Given the description of an element on the screen output the (x, y) to click on. 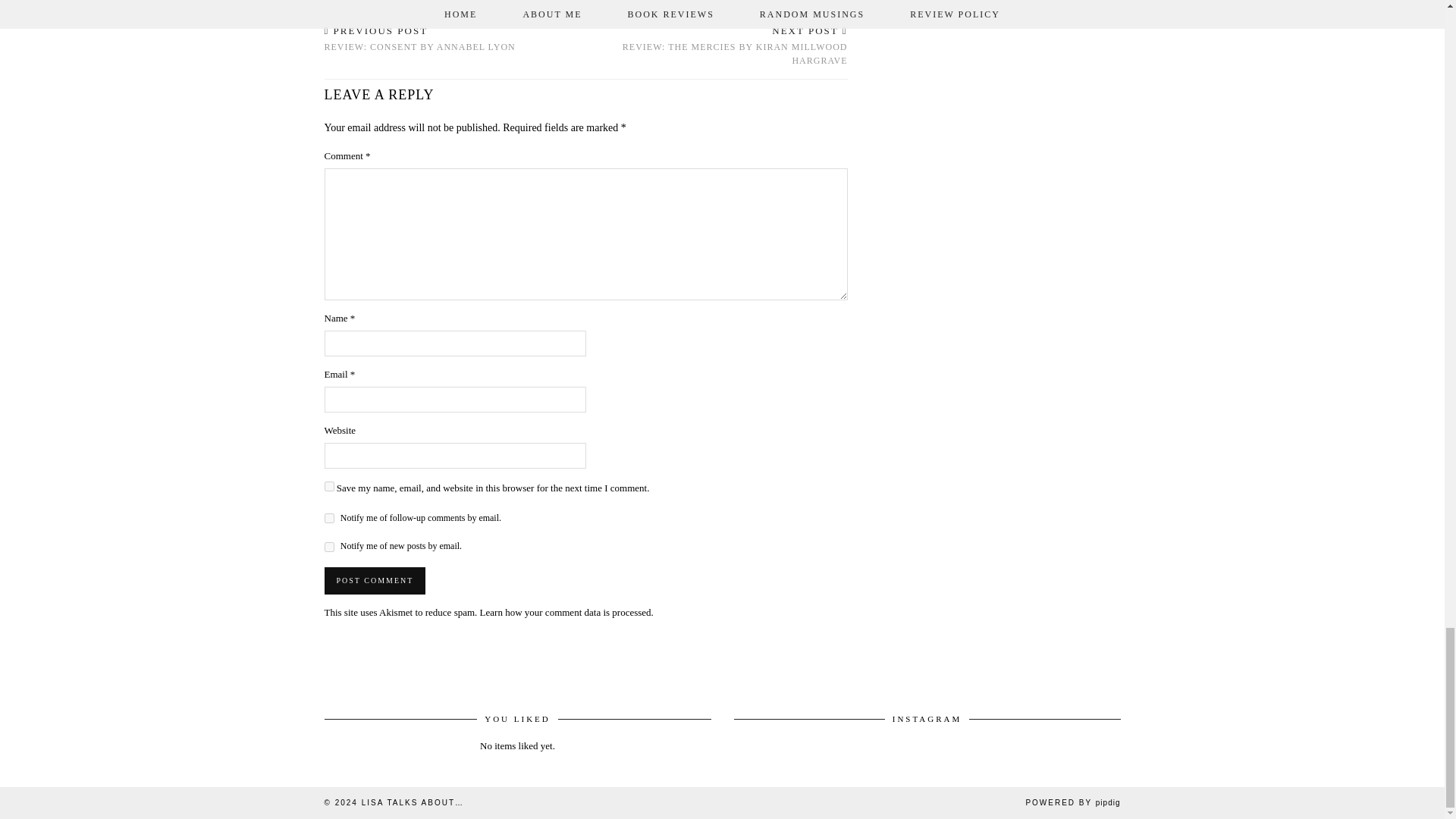
subscribe (329, 518)
Post Comment (375, 580)
Learn how your comment data is processed (565, 612)
yes (329, 486)
Post Comment (419, 39)
subscribe (375, 580)
